Given the description of an element on the screen output the (x, y) to click on. 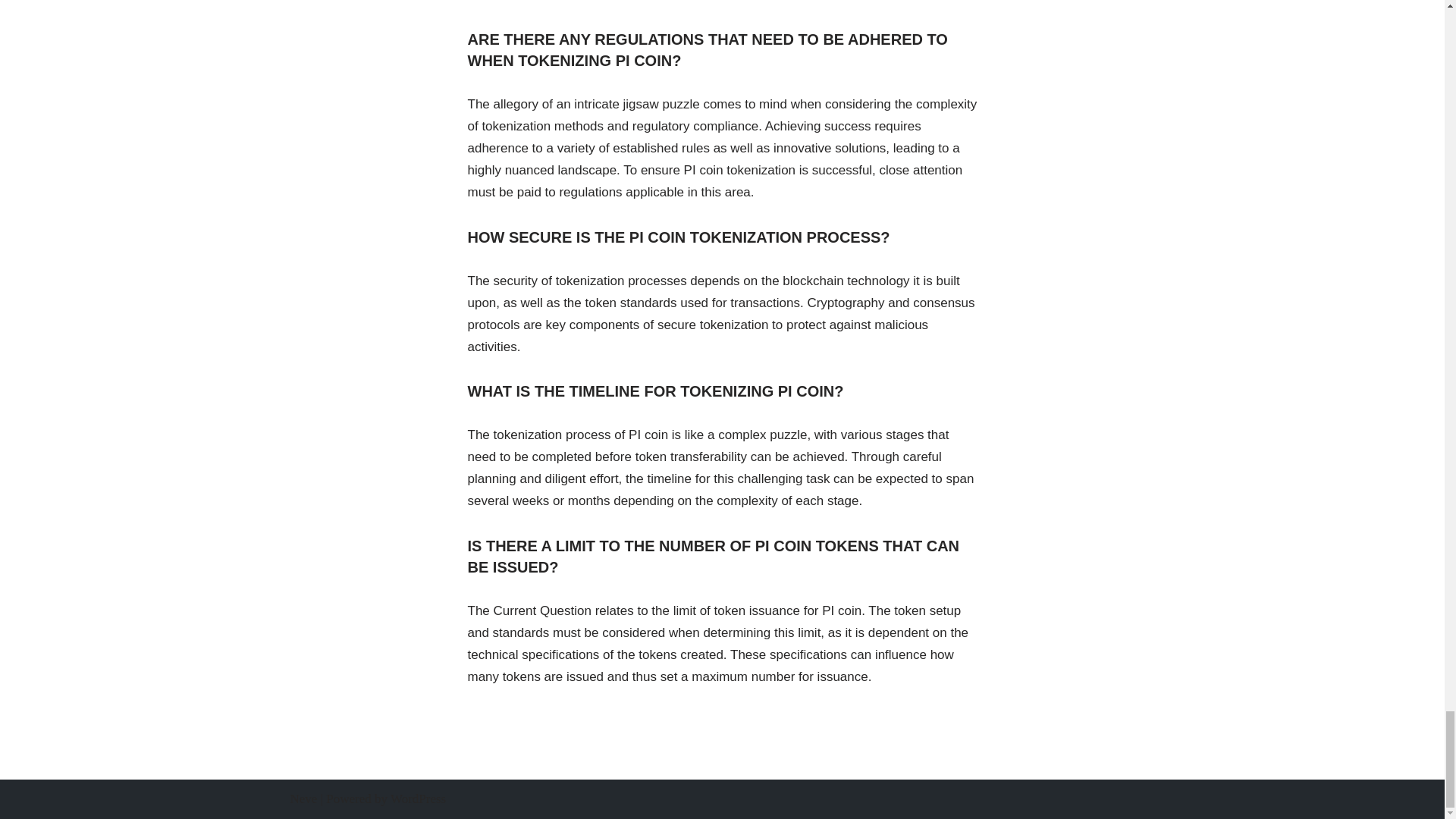
Neve (303, 798)
WordPress (417, 798)
